Given the description of an element on the screen output the (x, y) to click on. 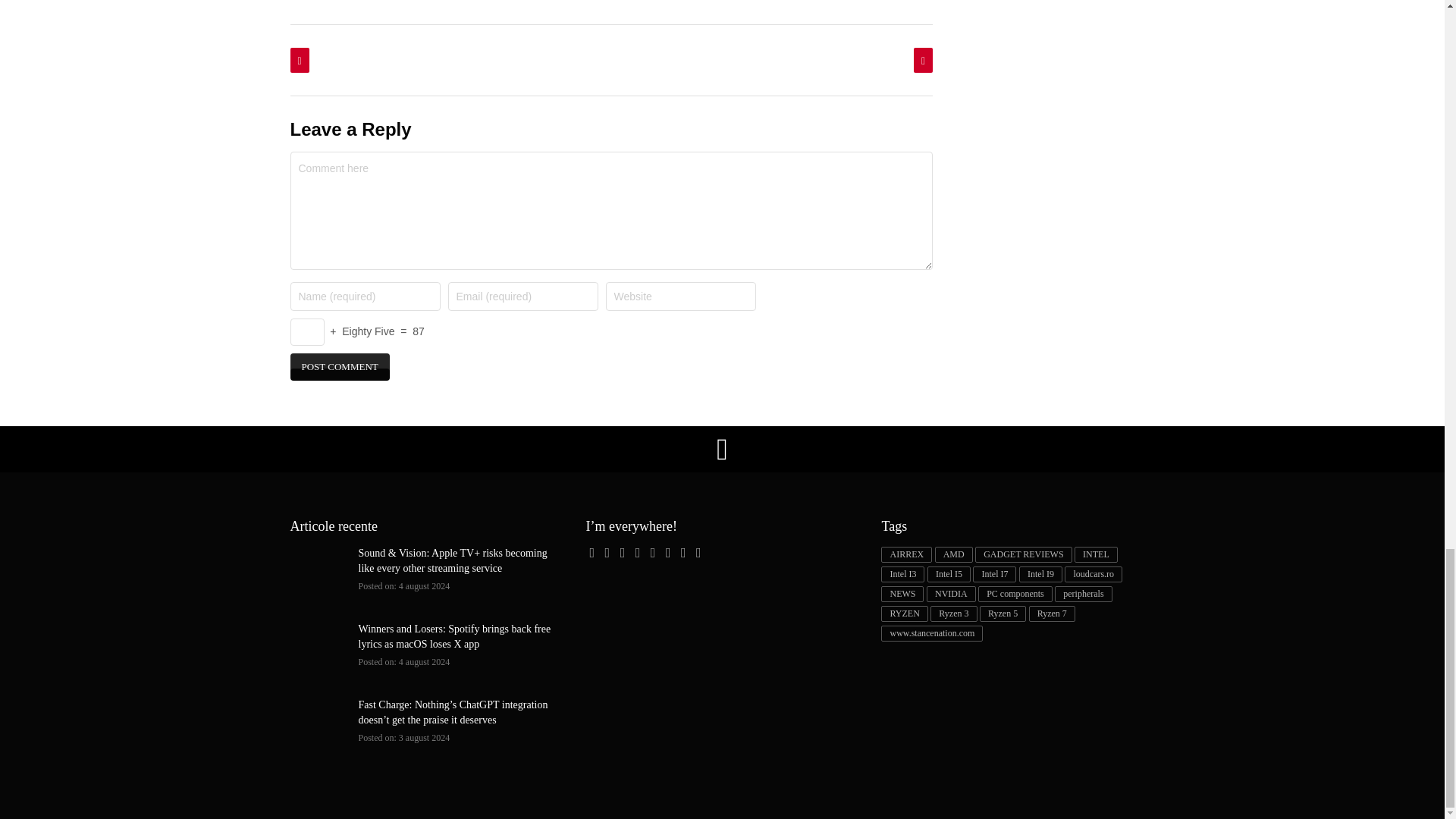
Post comment (338, 366)
